Given the description of an element on the screen output the (x, y) to click on. 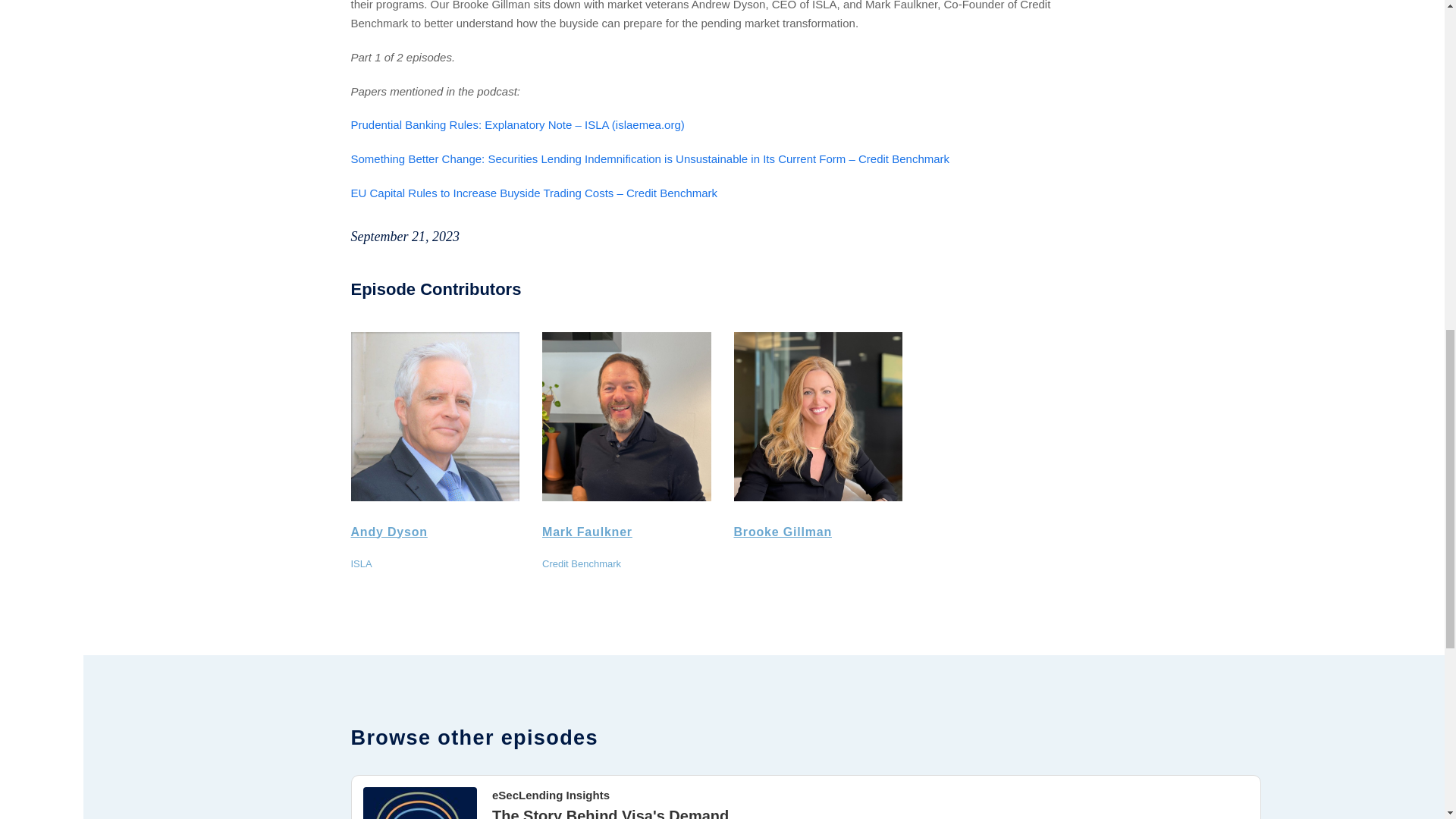
Brooke Gillman (782, 531)
